Given the description of an element on the screen output the (x, y) to click on. 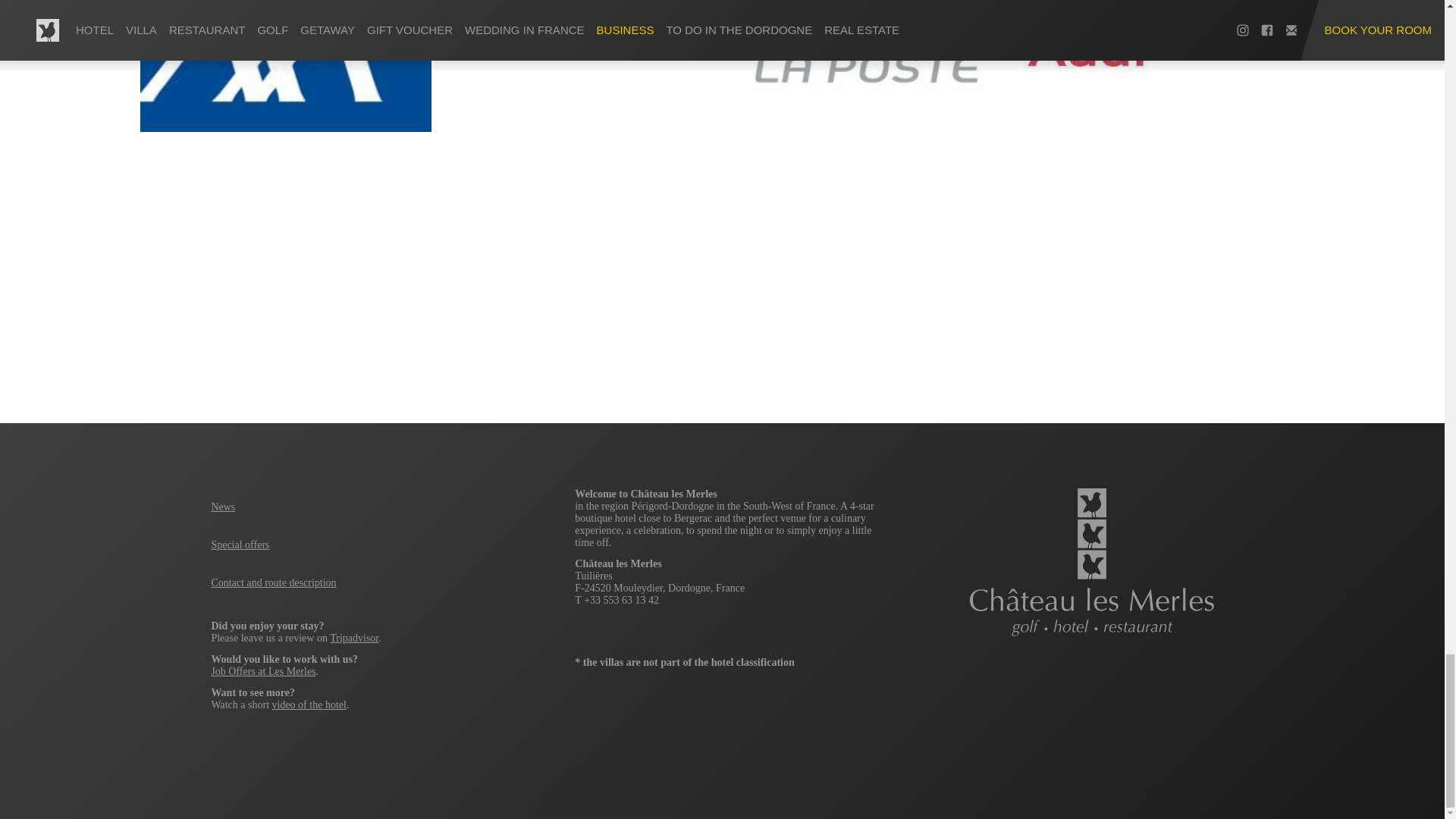
Contact and route description (273, 582)
News (222, 506)
video of the hotel (309, 704)
Job Offers at Les Merles (263, 671)
Special offers (240, 544)
Tripadvisor (354, 637)
